Given the description of an element on the screen output the (x, y) to click on. 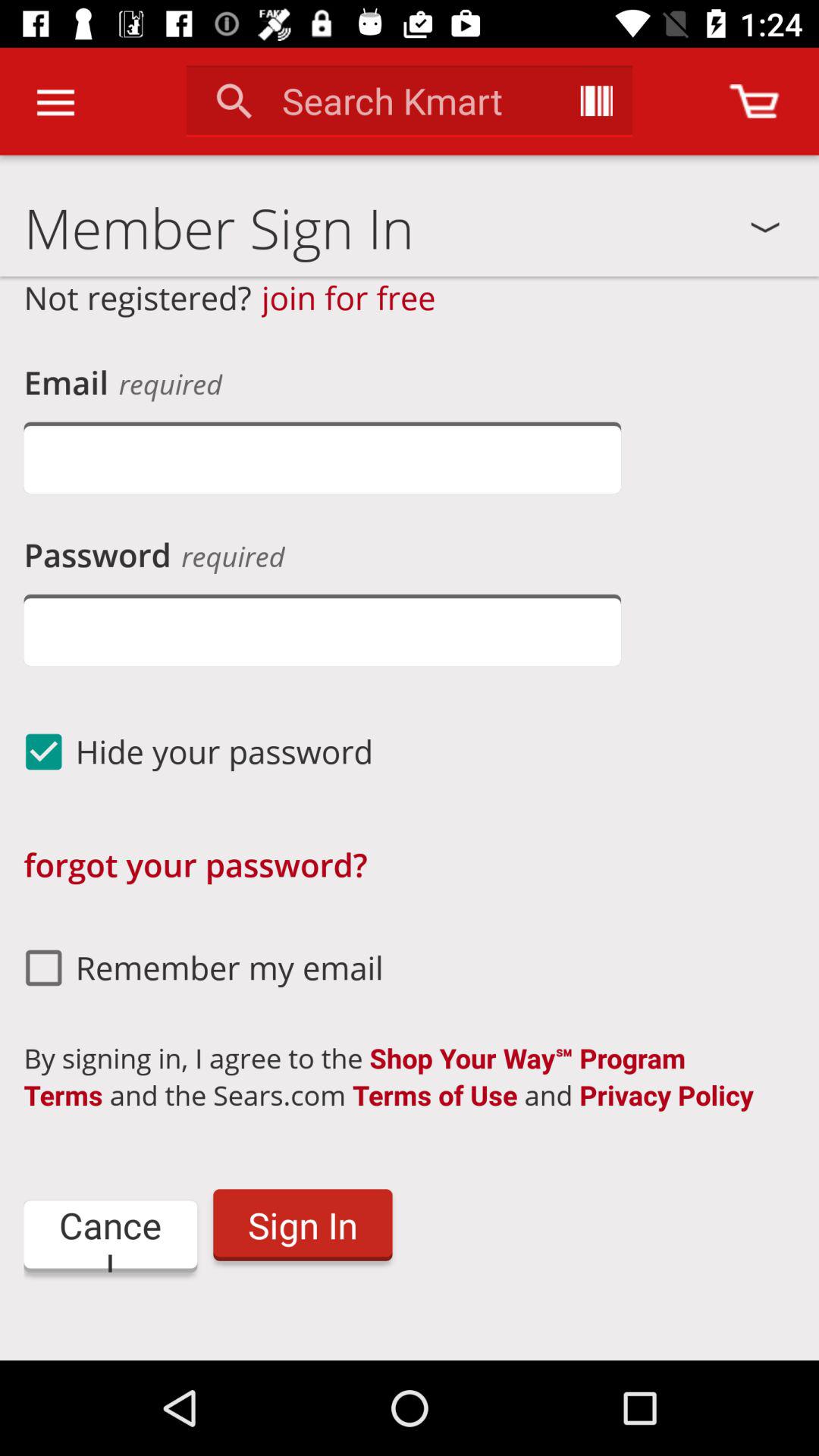
launch item to the left of the sign in item (110, 1236)
